Given the description of an element on the screen output the (x, y) to click on. 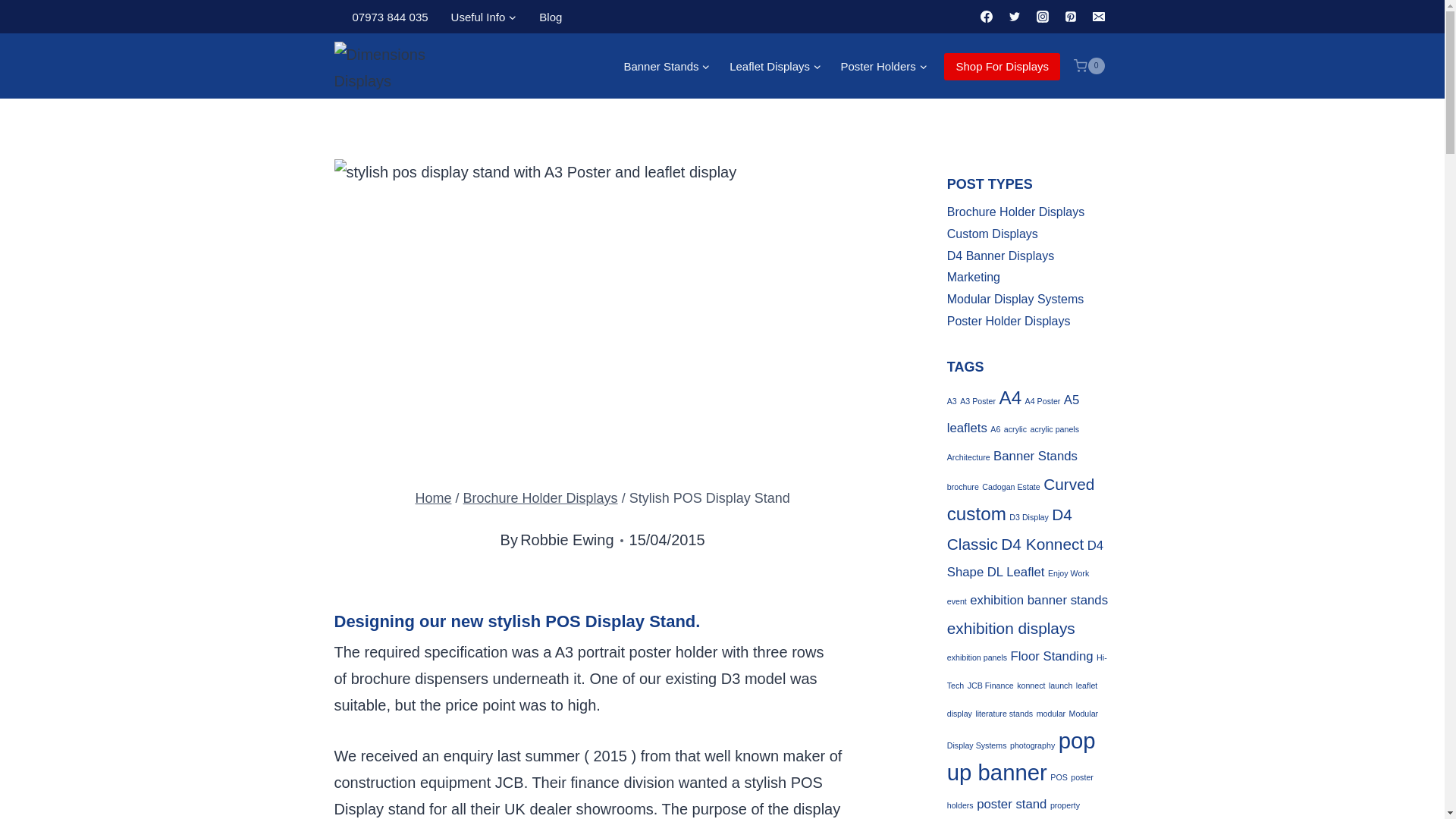
Banner Stands (667, 65)
Brochure Holder Displays (540, 498)
Useful Info (483, 16)
07973 844 035 (389, 16)
Shop For Displays (1001, 66)
Leaflet Displays (774, 65)
Blog (550, 16)
Home (432, 498)
Poster Holders (884, 65)
0 (1088, 65)
